Given the description of an element on the screen output the (x, y) to click on. 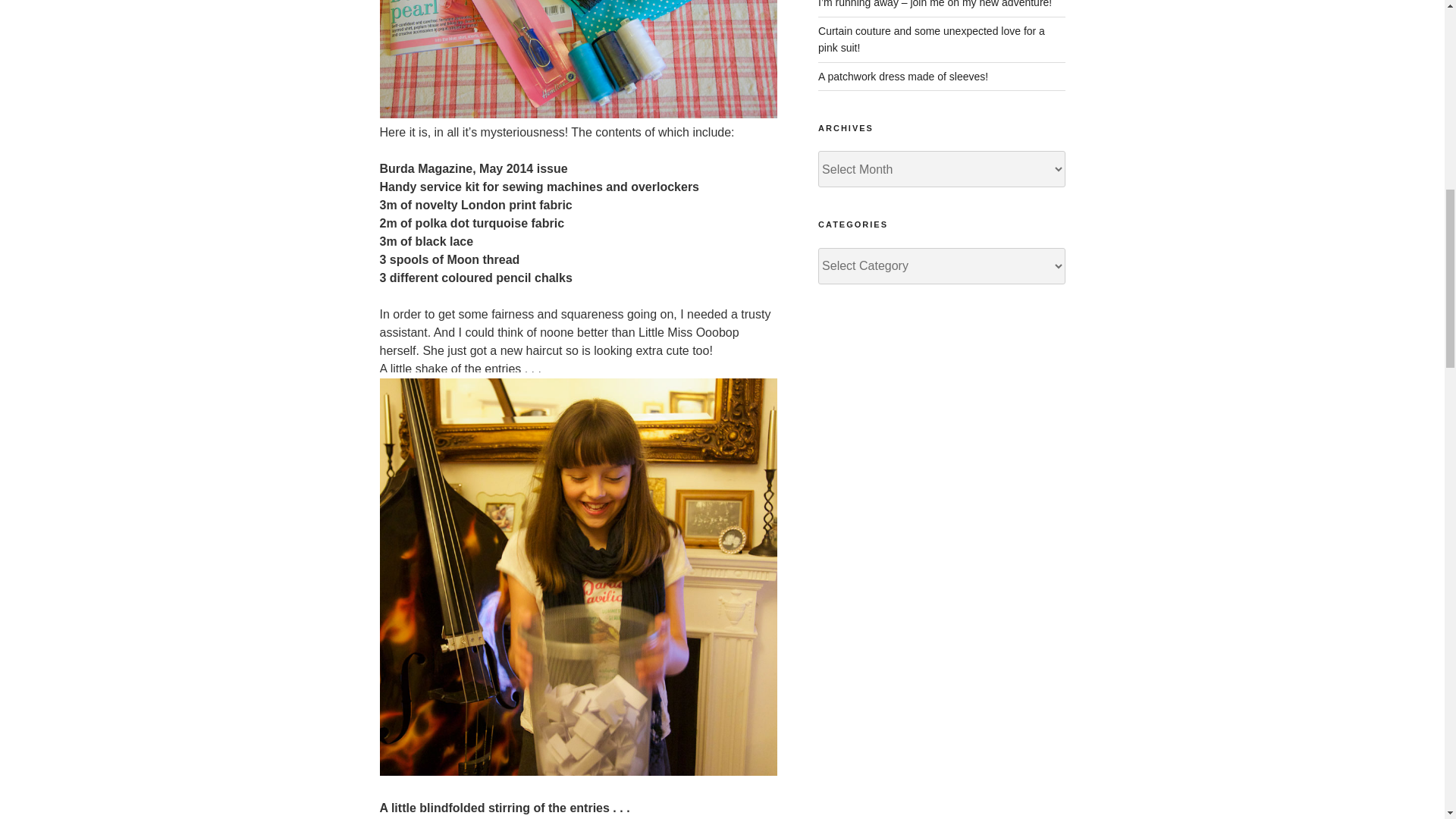
Curtain couture and some unexpected love for a pink suit! (931, 39)
A patchwork dress made of sleeves! (903, 76)
